Given the description of an element on the screen output the (x, y) to click on. 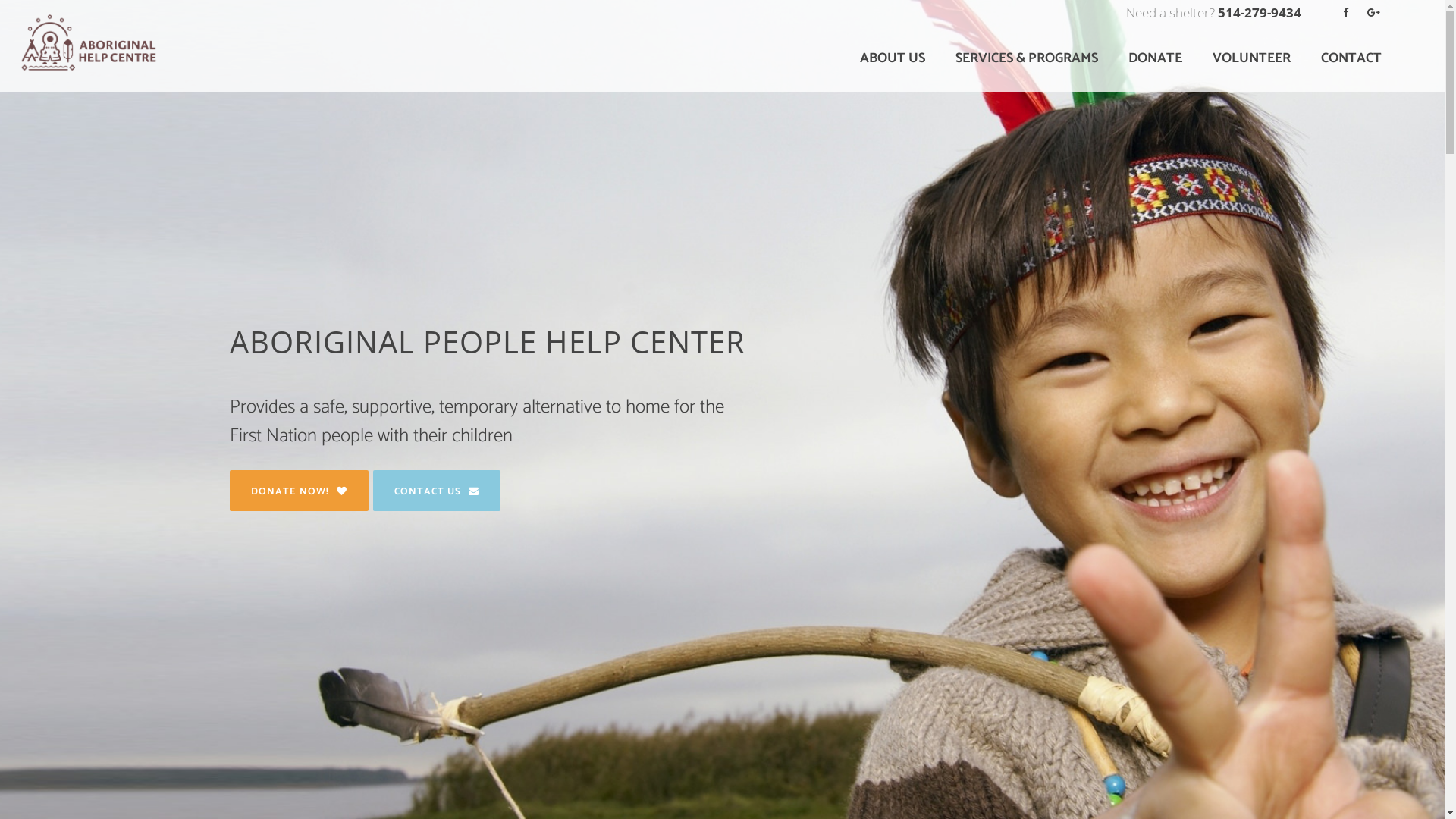
CONTACT US Element type: text (436, 490)
CONTACT Element type: text (1350, 58)
VOLUNTEER Element type: text (1251, 58)
SERVICES & PROGRAMS Element type: text (1026, 58)
ABOUT US Element type: text (892, 58)
DONATE Element type: text (1155, 58)
DONATE NOW! Element type: text (298, 490)
